Given the description of an element on the screen output the (x, y) to click on. 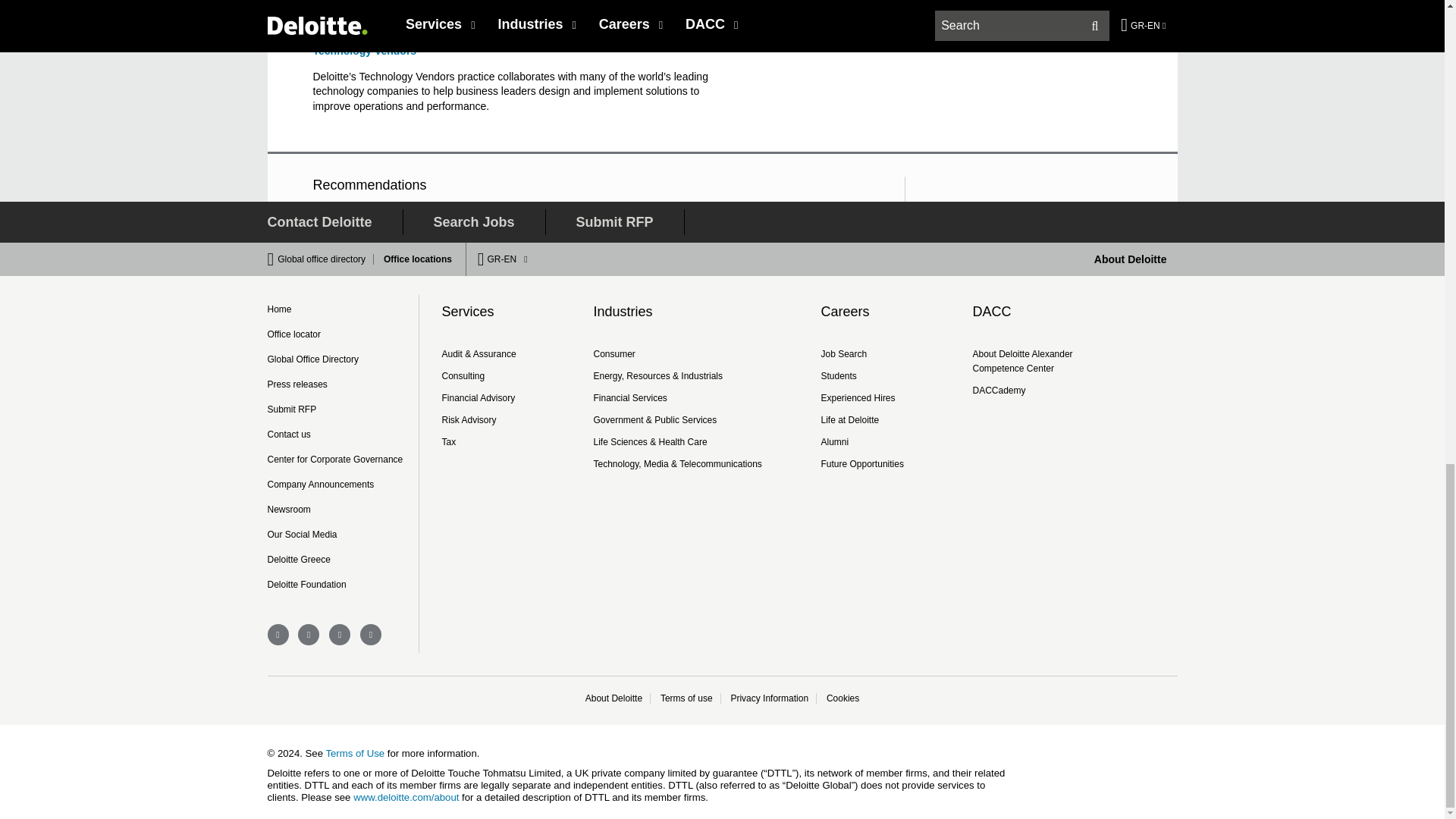
youtube (339, 634)
Office locations (413, 258)
About Deloitte (1130, 259)
instagram (370, 634)
linkedin (308, 634)
facebook (277, 634)
Global office directory (326, 258)
